Given the description of an element on the screen output the (x, y) to click on. 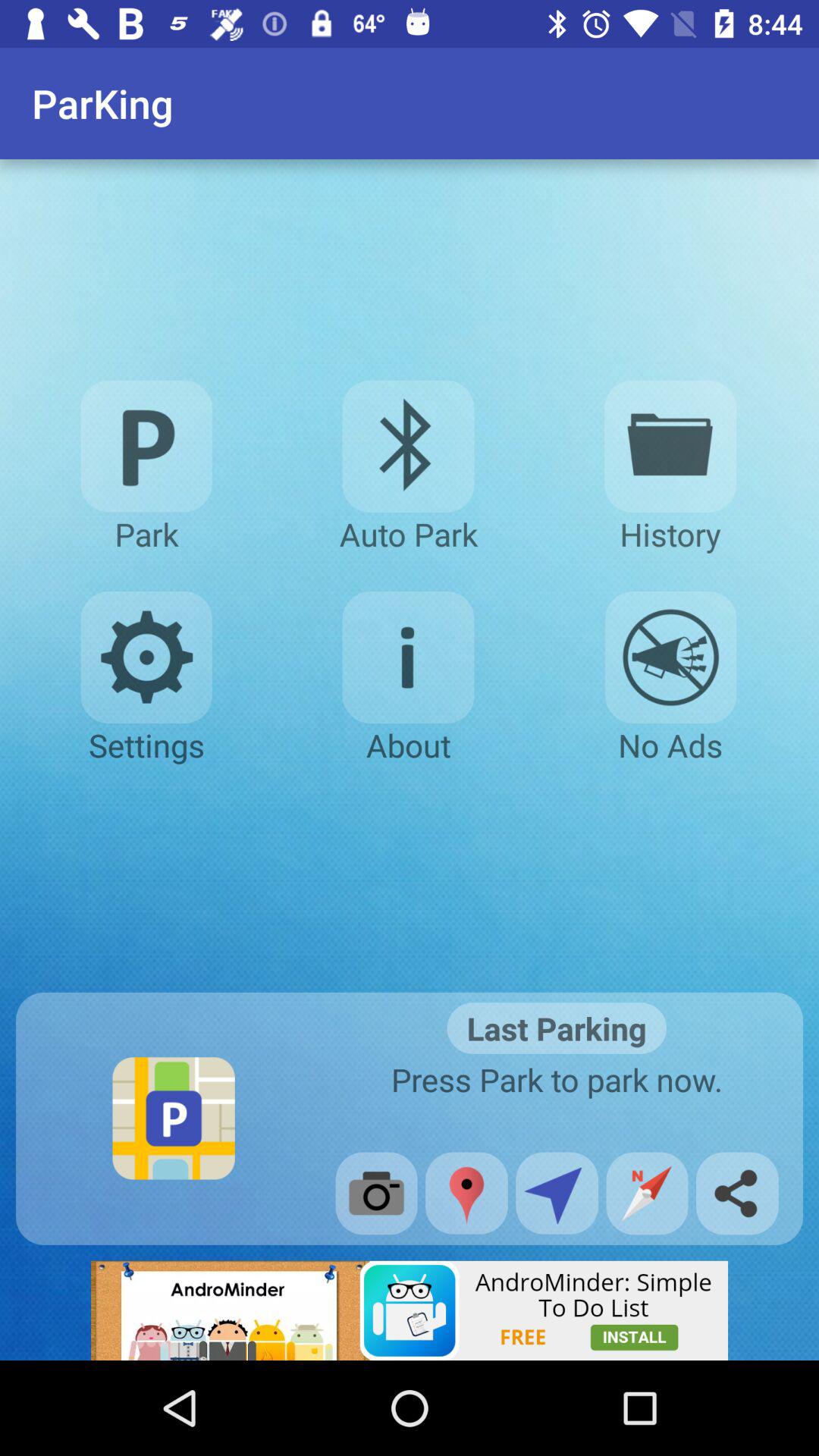
go to about page (408, 657)
